Given the description of an element on the screen output the (x, y) to click on. 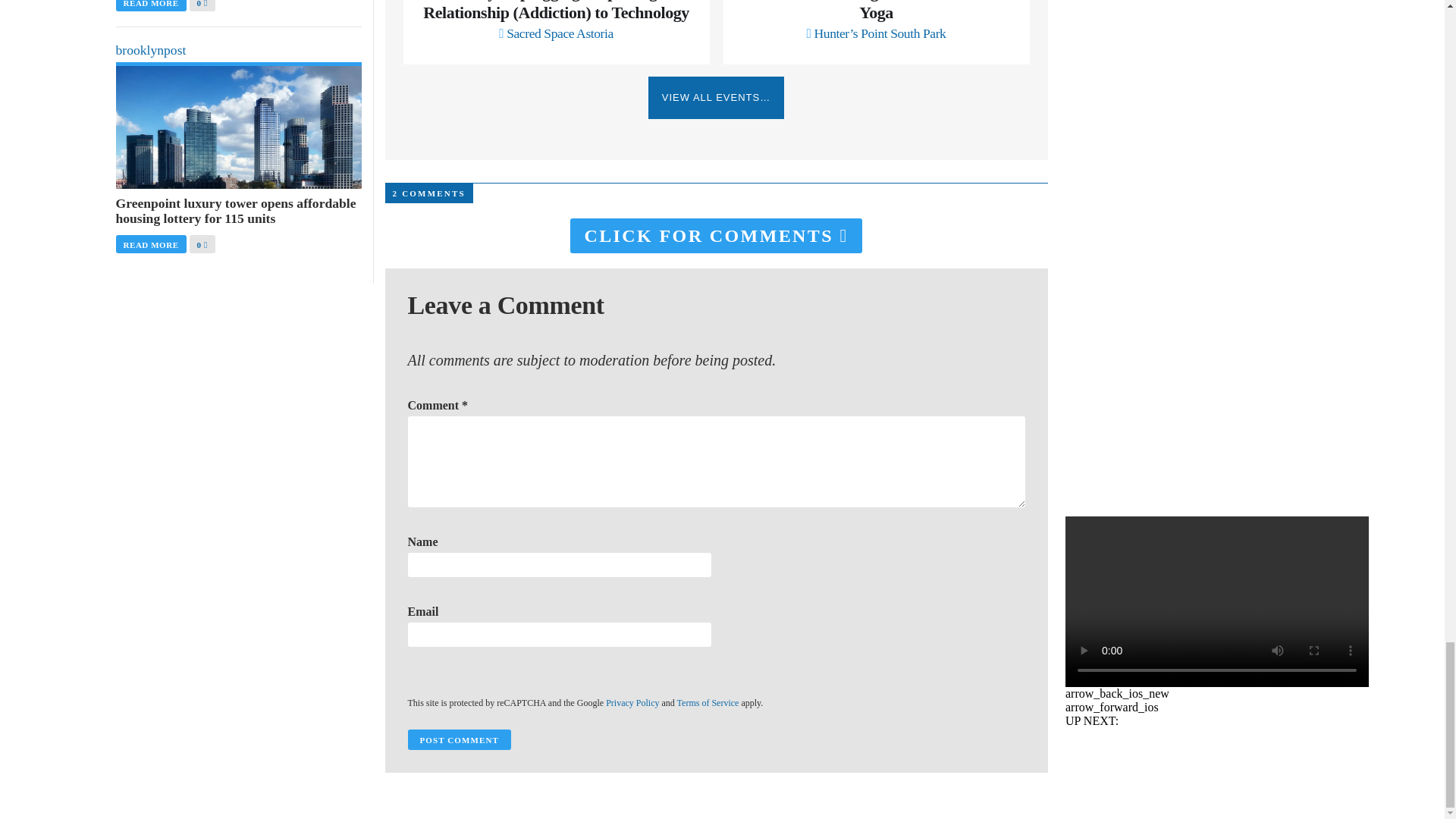
Post Comment (459, 739)
